Given the description of an element on the screen output the (x, y) to click on. 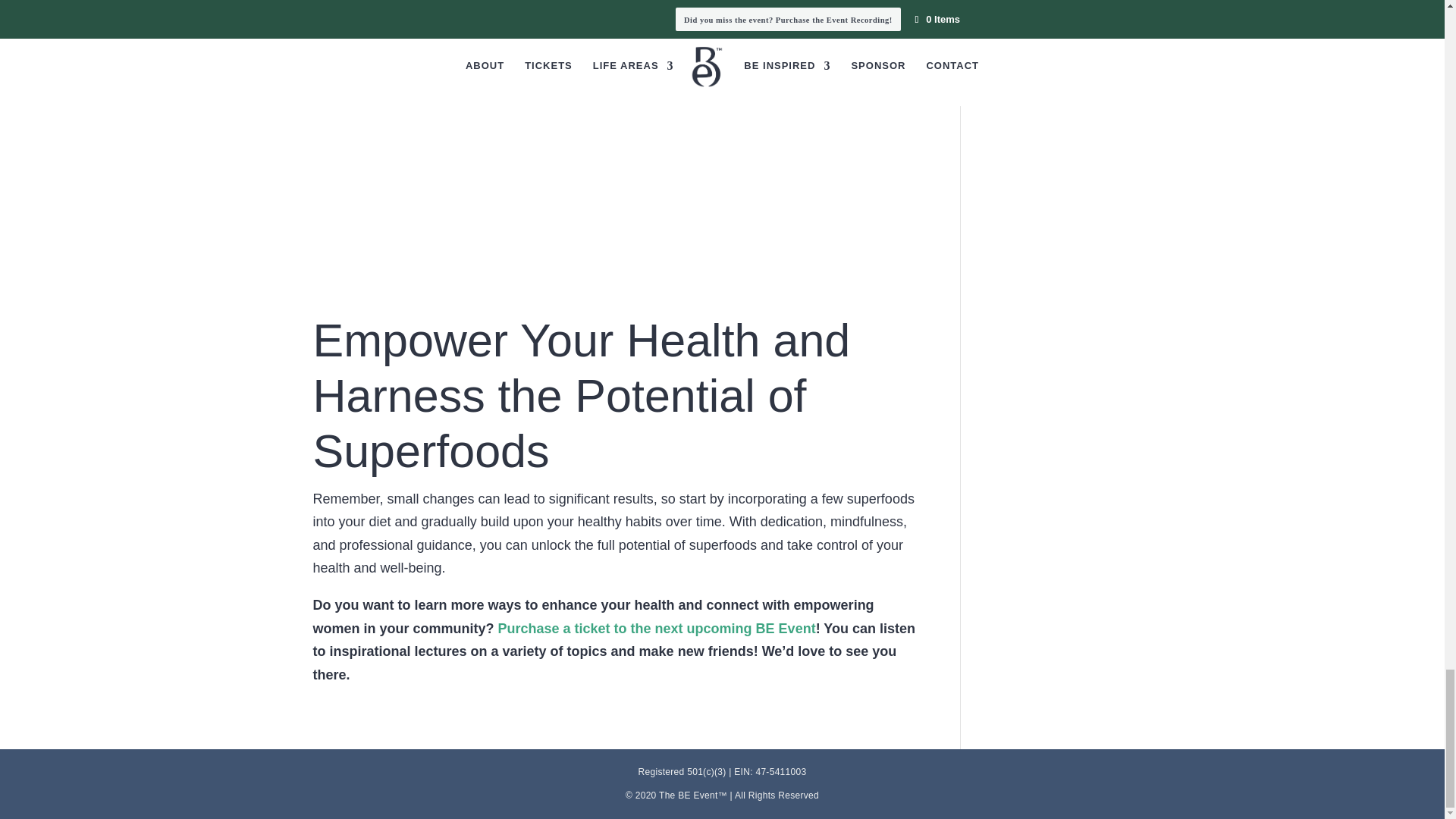
Purchase a ticket to the next upcoming BE Event (656, 628)
